Given the description of an element on the screen output the (x, y) to click on. 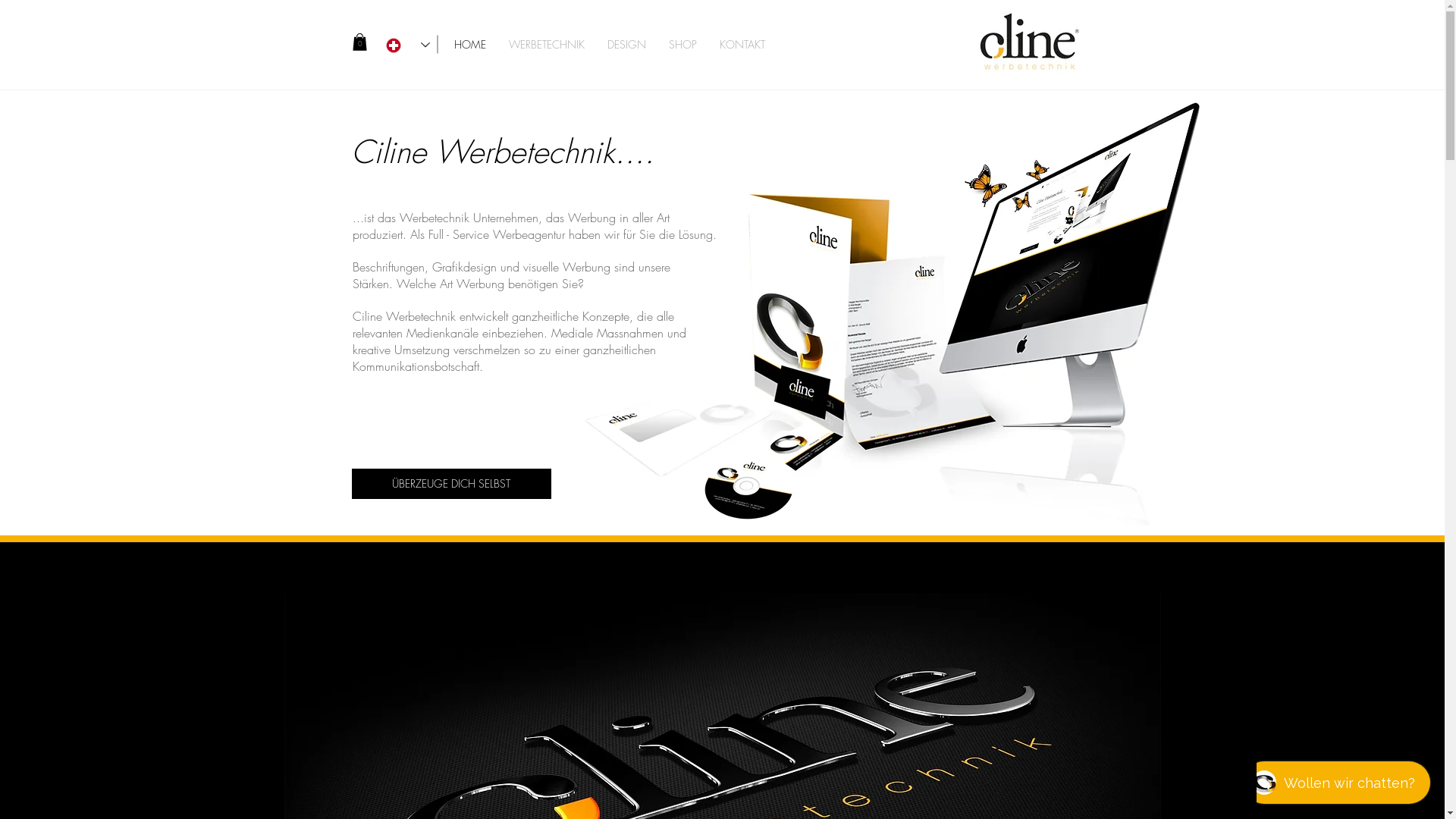
DESIGN Element type: text (626, 44)
KONTAKT Element type: text (742, 44)
Ciline-Werbetechnik-Startbild.jpg Element type: hover (890, 311)
HOME Element type: text (469, 44)
SHOP Element type: text (681, 44)
WERBETECHNIK Element type: text (546, 44)
0 Element type: text (358, 41)
Logo-Ciline-Werbetechnik.jpg Element type: hover (1026, 41)
